Given the description of an element on the screen output the (x, y) to click on. 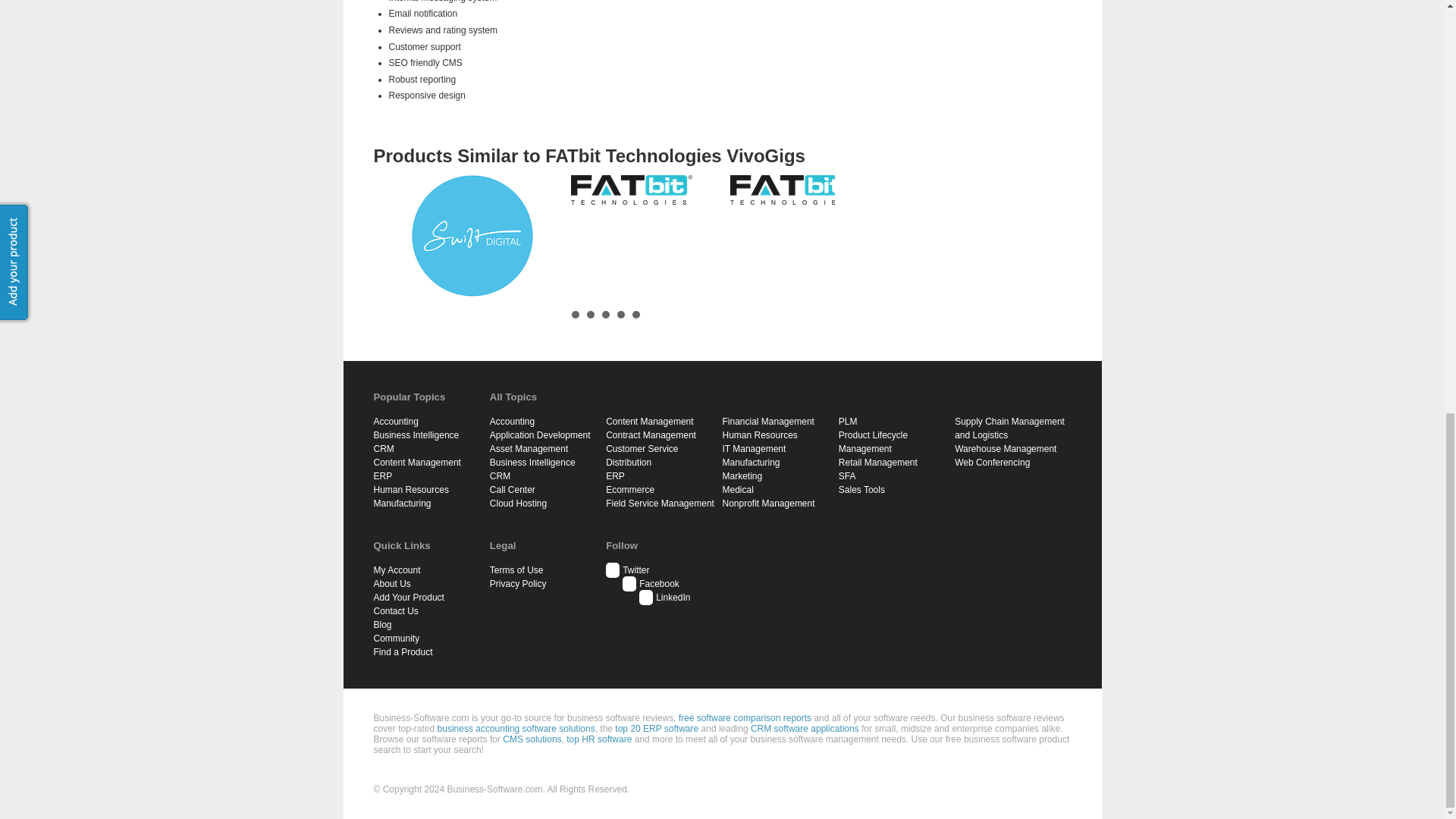
FATbit Technologies Growcer (789, 189)
FATbit Technologies Yo!Yumm (630, 189)
FATbit Technologies Growcer (790, 189)
FATbit Technologies Yo!Yumm (631, 189)
Swift Digital Suite (472, 235)
Swift Digital Suite (471, 235)
